Given the description of an element on the screen output the (x, y) to click on. 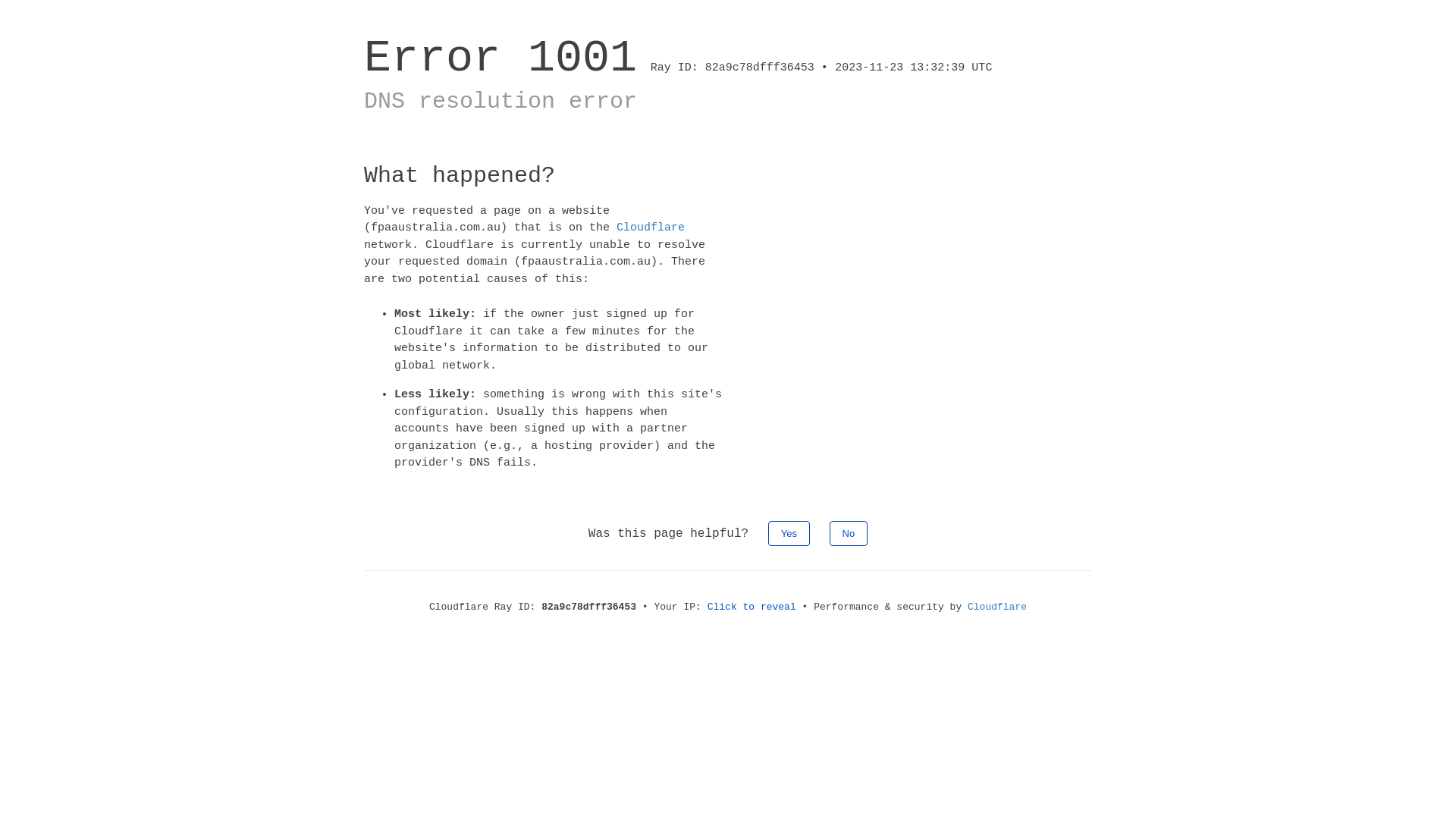
Cloudflare Element type: text (996, 605)
Cloudflare Element type: text (650, 227)
No Element type: text (848, 532)
Yes Element type: text (788, 532)
Click to reveal Element type: text (751, 605)
